Given the description of an element on the screen output the (x, y) to click on. 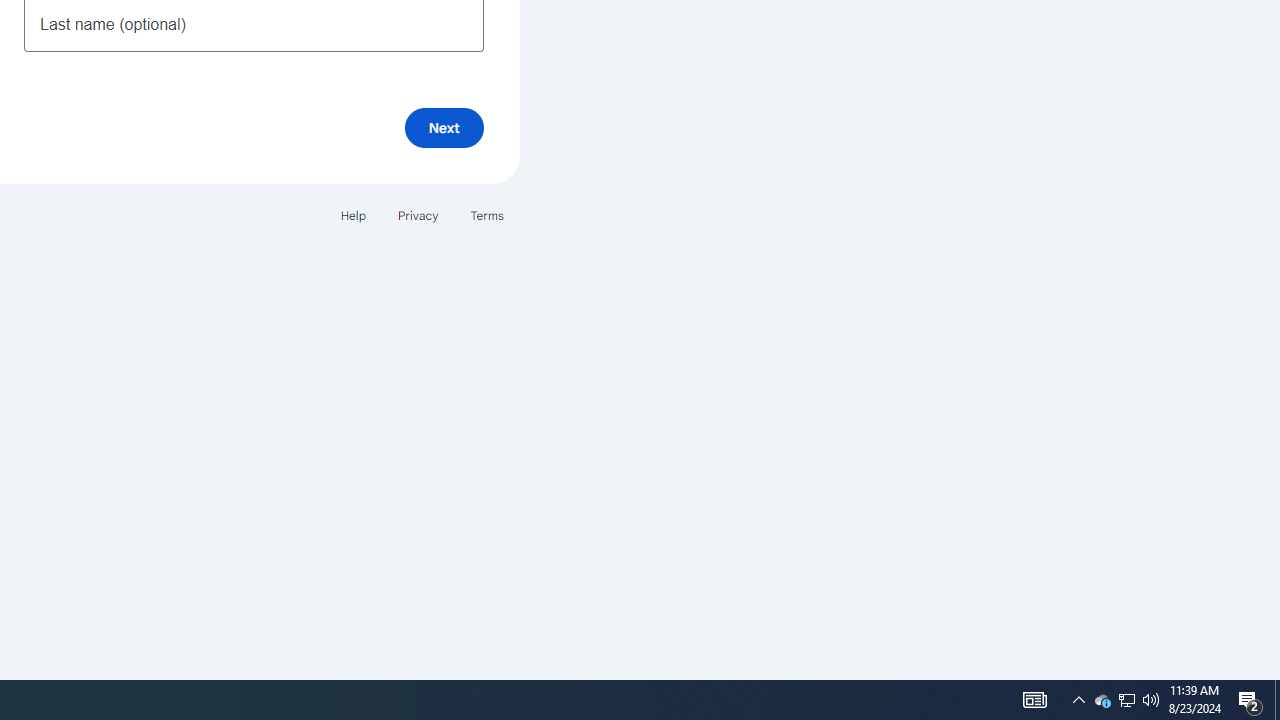
Help (352, 214)
Terms (486, 214)
Next (443, 127)
Privacy (417, 214)
